Given the description of an element on the screen output the (x, y) to click on. 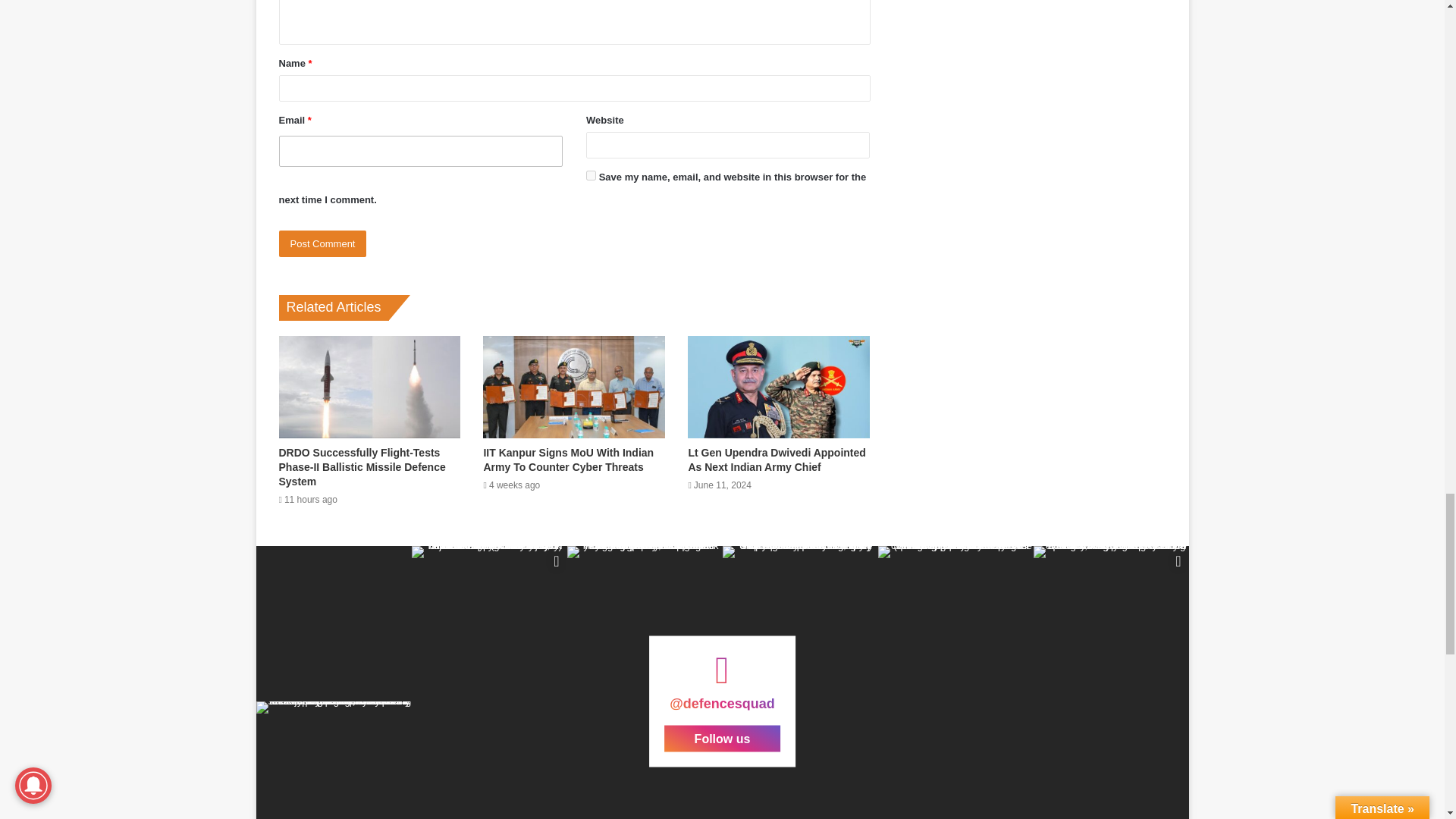
yes (590, 175)
Post Comment (322, 243)
